Given the description of an element on the screen output the (x, y) to click on. 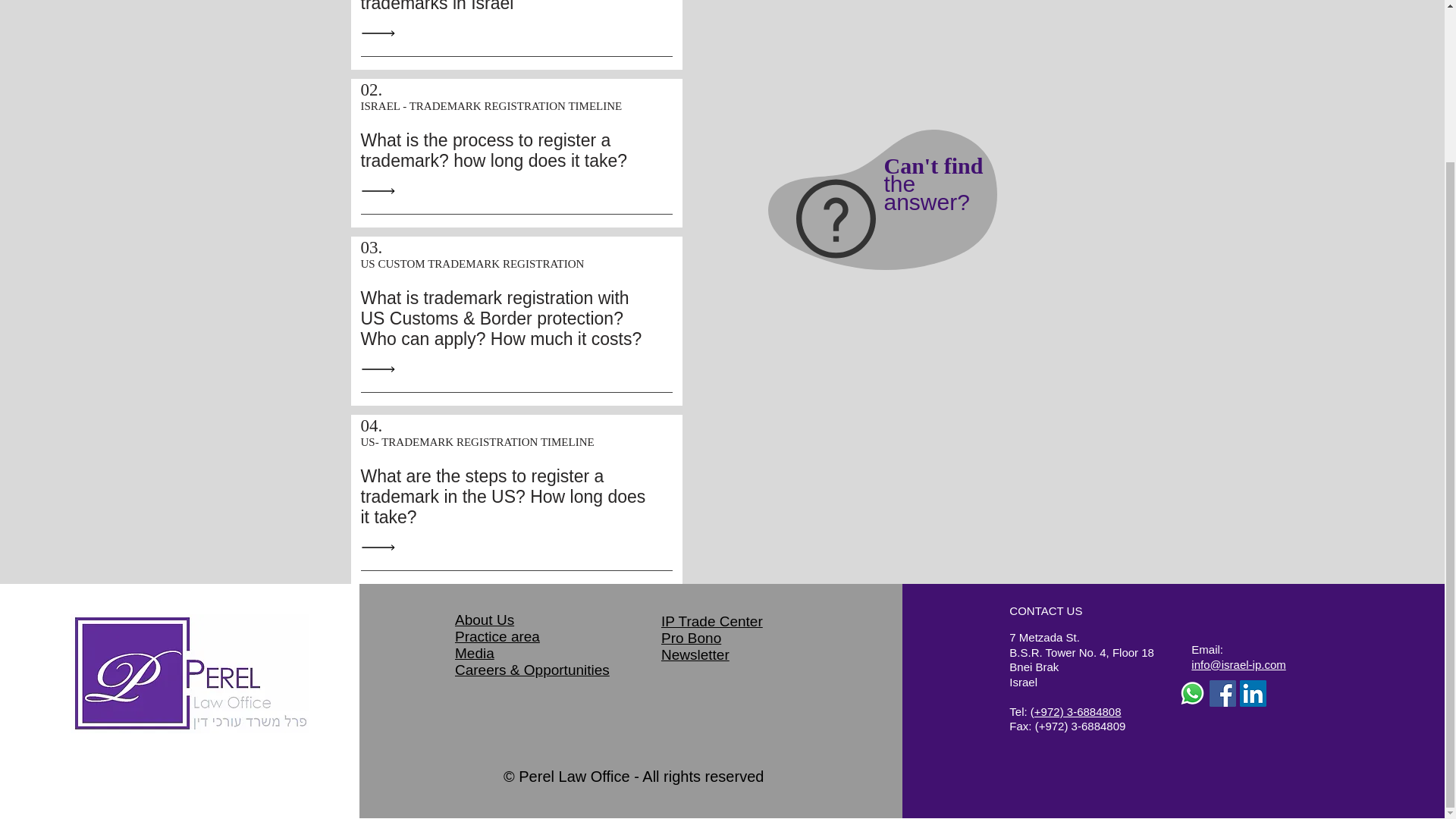
Practice area (497, 636)
Newsletter (935, 183)
About Us (695, 654)
Media (483, 619)
IP Trade Center (474, 652)
Pro Bono (711, 621)
